Given the description of an element on the screen output the (x, y) to click on. 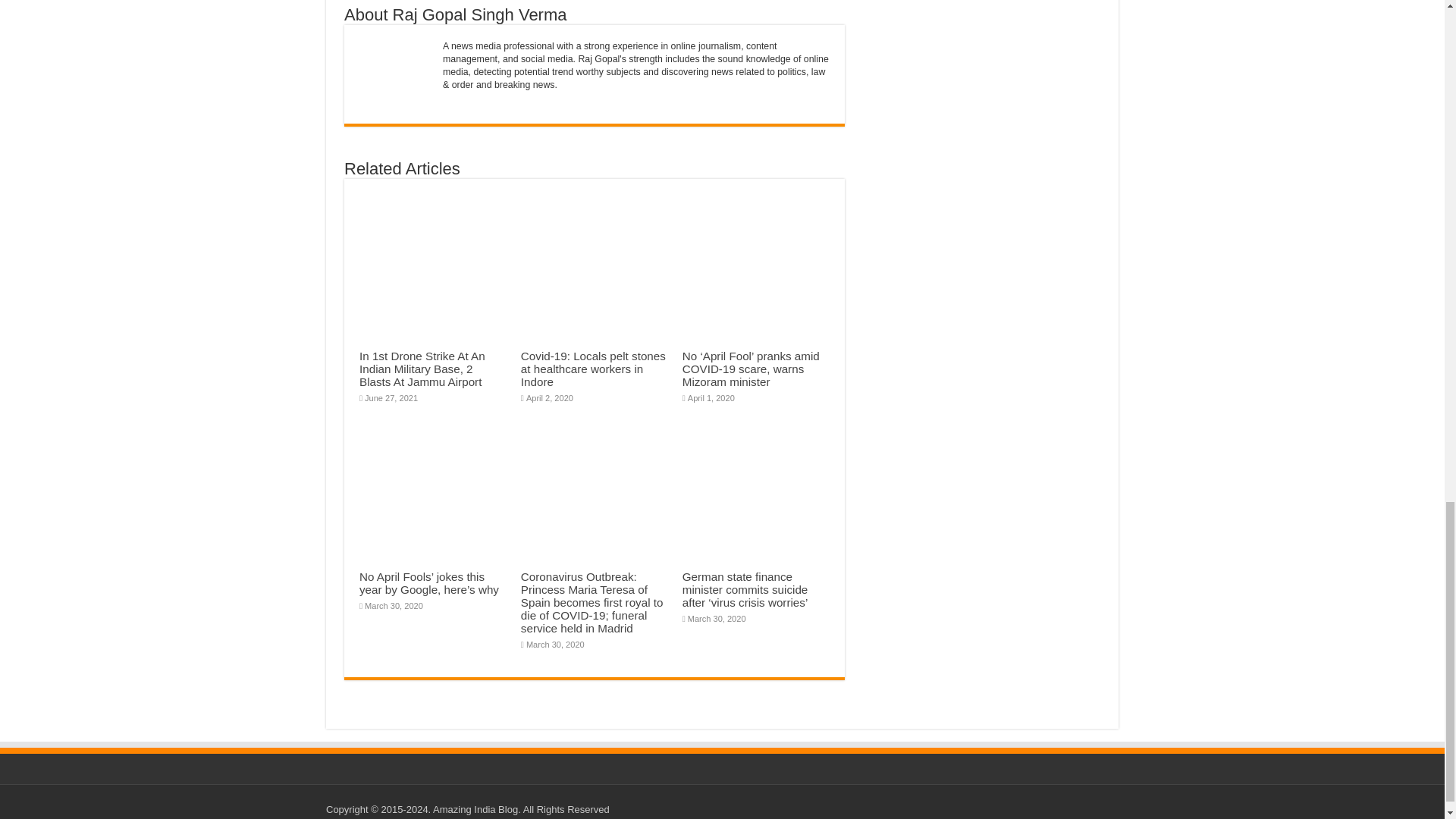
Covid-19: Locals pelt stones at healthcare workers in Indore (593, 368)
